Given the description of an element on the screen output the (x, y) to click on. 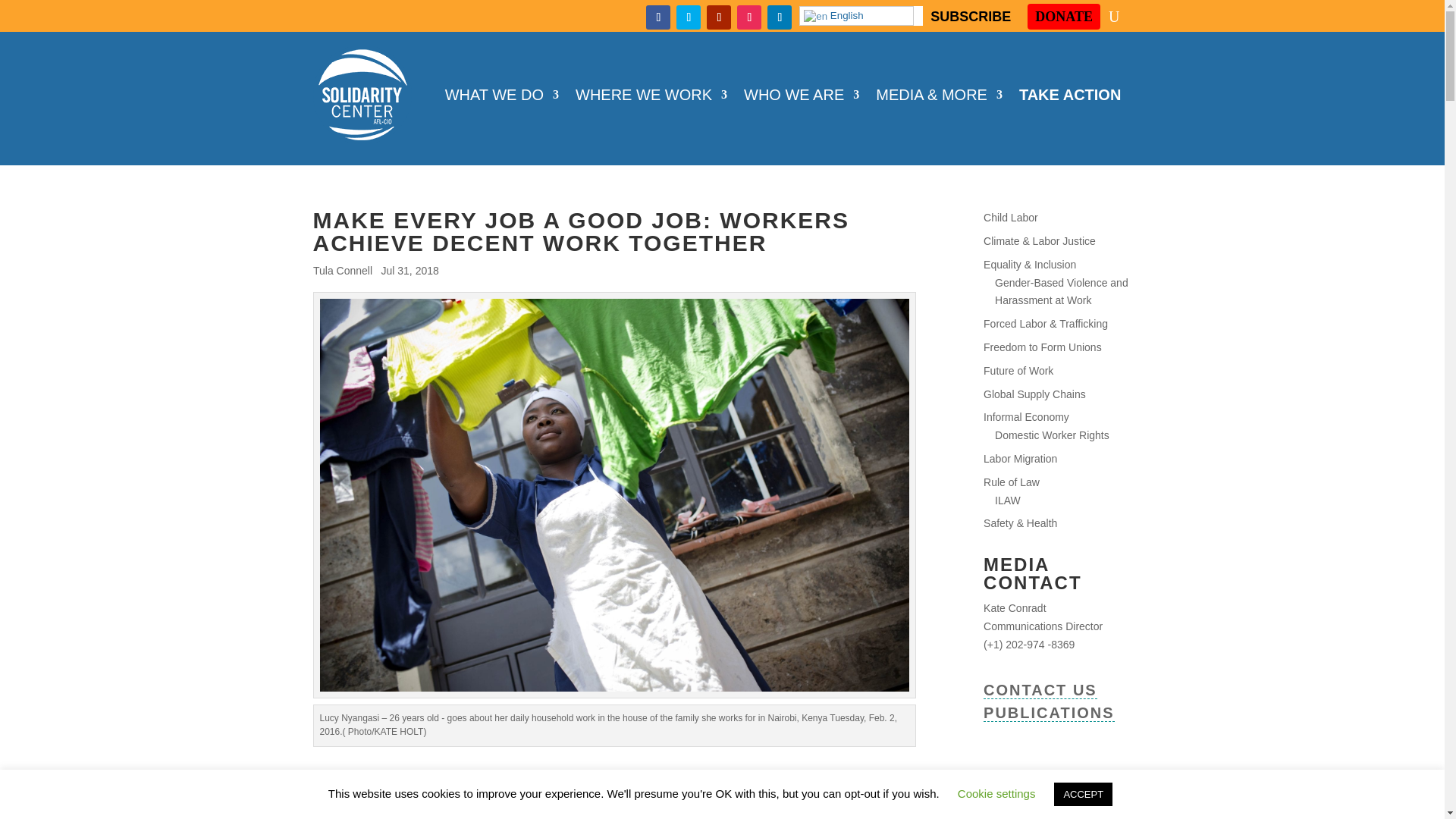
SUBSCRIBE (970, 19)
English (856, 15)
DONATE (1063, 16)
